Given the description of an element on the screen output the (x, y) to click on. 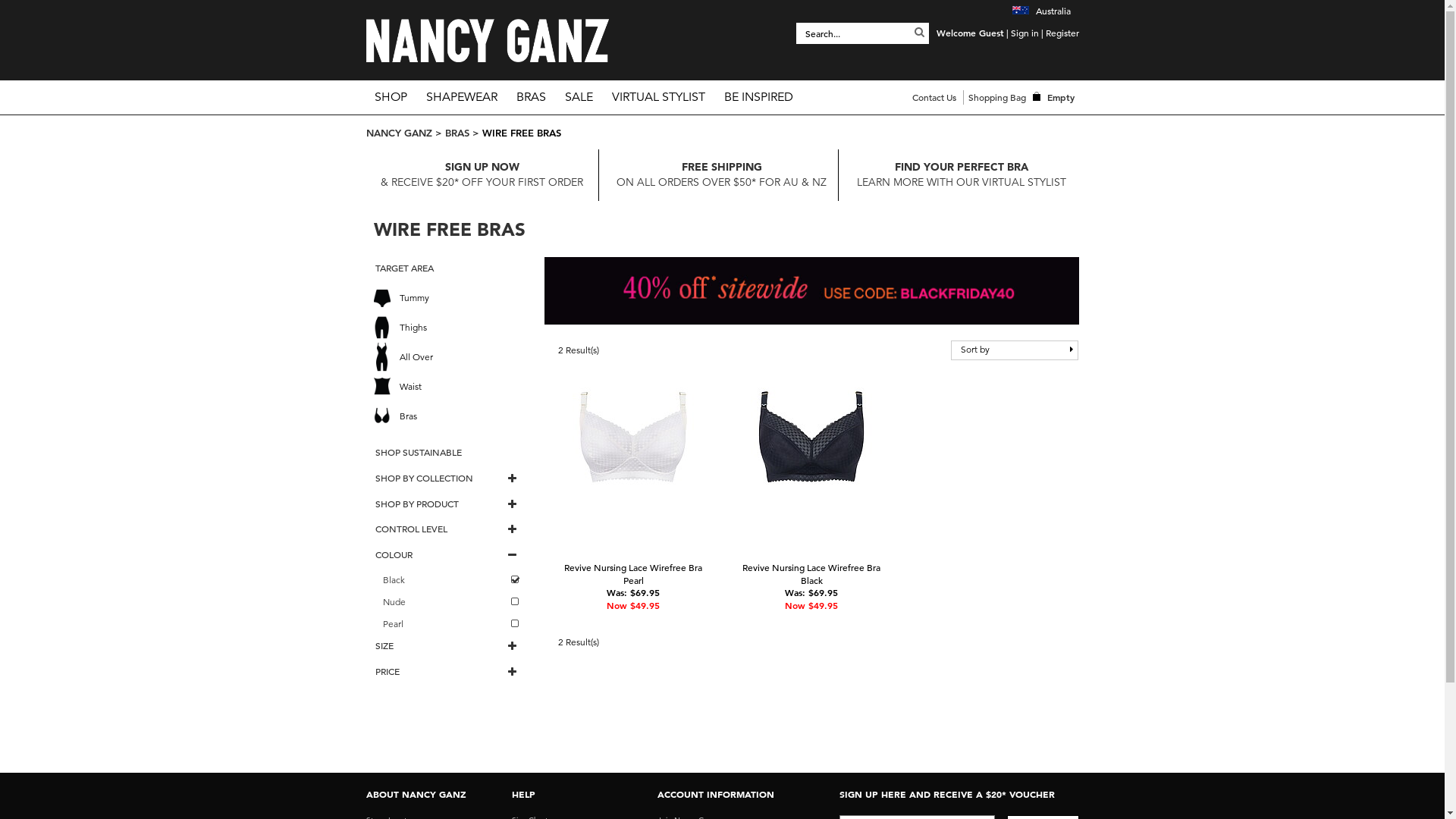
SHOP Element type: text (389, 96)
NANCY GANZ Element type: text (398, 132)
Nude Element type: text (450, 602)
Tummy Element type: text (450, 297)
Sign in Element type: text (1024, 32)
Waist Element type: text (450, 386)
SHAPEWEAR Element type: text (461, 96)
BE INSPIRED Element type: text (758, 96)
FREE SHIPPINGON ALL ORDERS OVER $50* FOR AU & NZ Element type: text (721, 174)
Register Element type: text (1061, 32)
Australia Element type: text (1040, 10)
Black Element type: text (450, 580)
BRAS Element type: text (456, 132)
Pearl Element type: text (450, 623)
Thighs Element type: text (450, 327)
Contact Us Element type: text (933, 97)
Revive Nursing Lace Wirefree Bra
Black Element type: text (811, 573)
BRAS Element type: text (531, 96)
Set Price Element type: text (422, 758)
SHOP SUSTAINABLE Element type: text (446, 452)
Bras Element type: text (450, 415)
All Over Element type: text (450, 356)
SIGN UP NOW& RECEIVE $20* OFF YOUR FIRST ORDER Element type: text (482, 174)
SALE Element type: text (578, 96)
Shopping Bag Element type: text (996, 97)
Revive Nursing Lace Wirefree Bra
Pearl Element type: text (633, 573)
Go Element type: text (919, 31)
FIND YOUR PERFECT BRALEARN MORE WITH OUR VIRTUAL STYLIST Element type: text (961, 174)
VIRTUAL STYLIST Element type: text (658, 96)
